Given the description of an element on the screen output the (x, y) to click on. 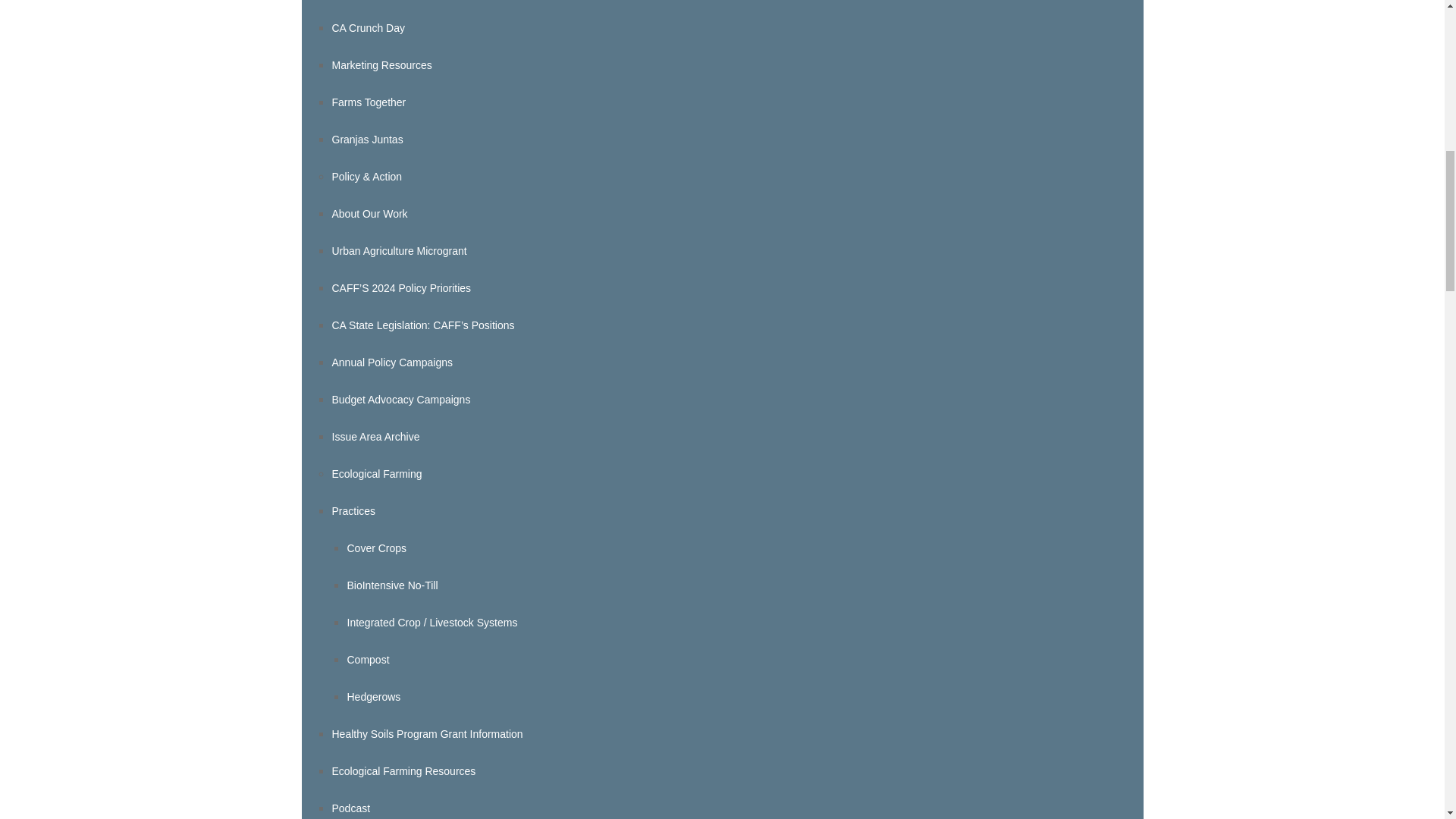
Urban Agriculture Microgrant (399, 250)
About Our Work (369, 214)
Granjas Juntas (367, 139)
Farms Together (368, 102)
CA Crunch Day (367, 28)
Marketing Resources (381, 64)
